Given the description of an element on the screen output the (x, y) to click on. 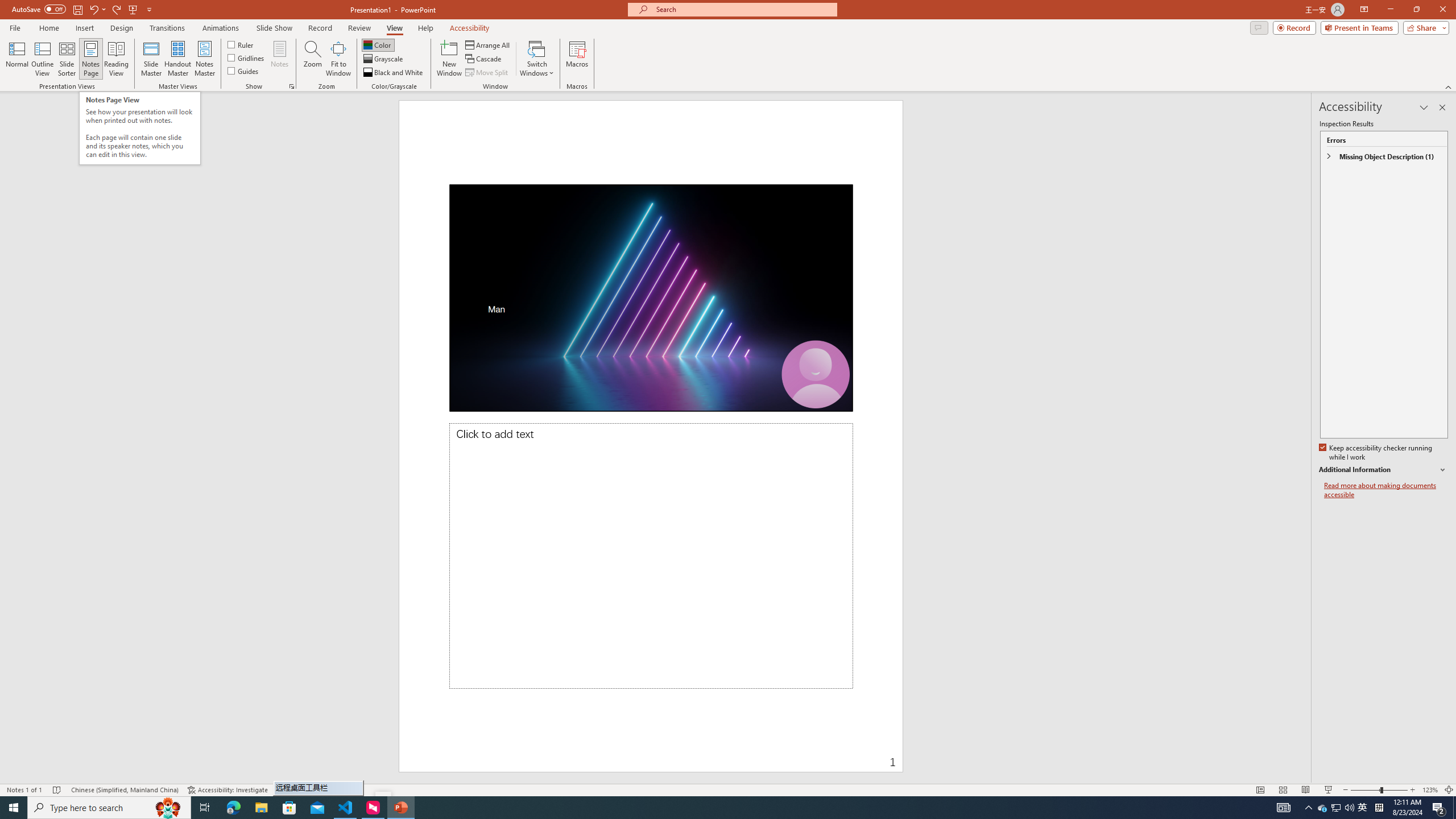
New Window (449, 58)
Move Split (487, 72)
Slide Master (151, 58)
Switch Windows (537, 58)
Zoom 123% (1430, 790)
